Given the description of an element on the screen output the (x, y) to click on. 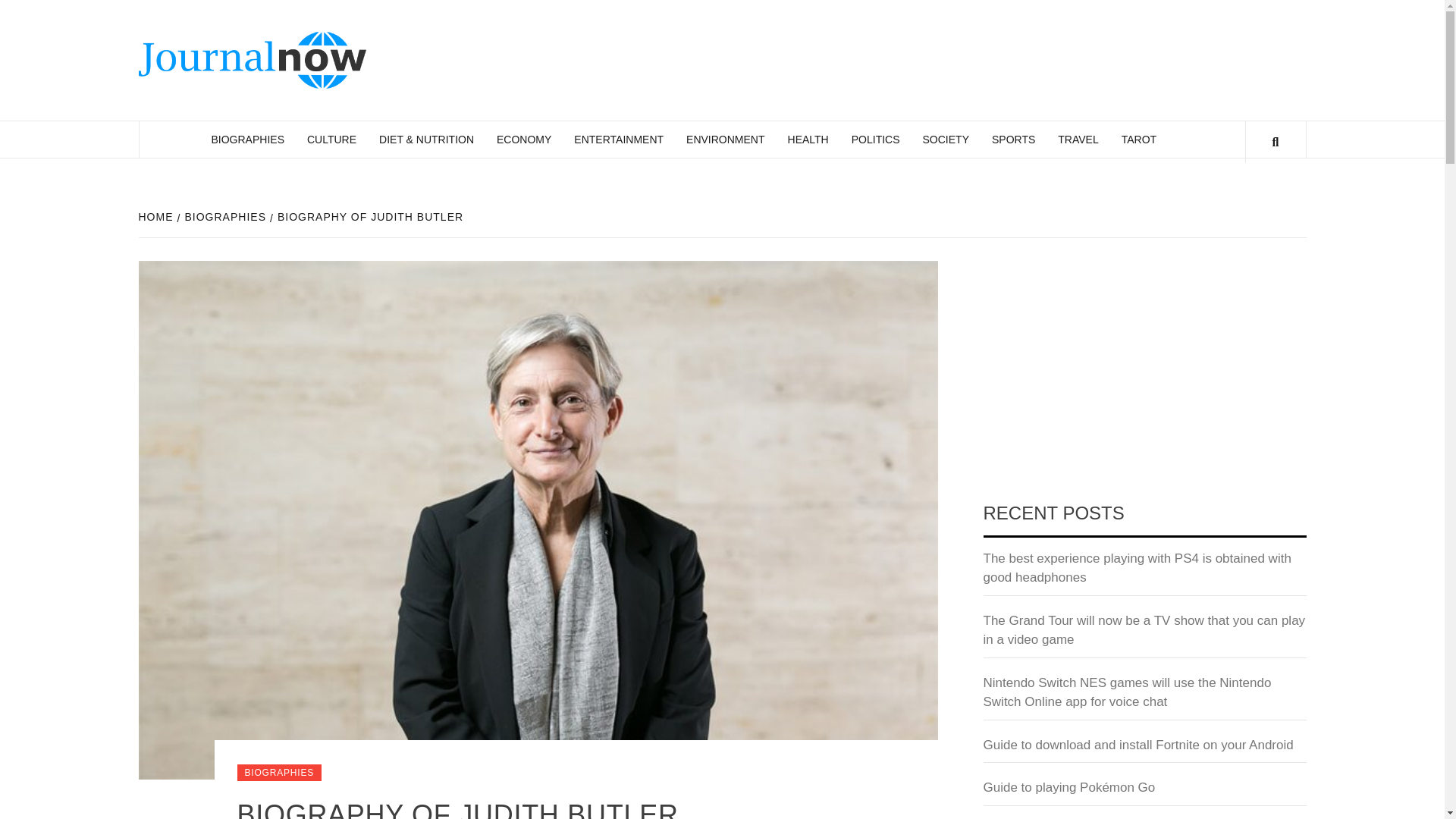
ECONOMY (523, 139)
SPORTS (1012, 139)
CULTURE (331, 139)
BIOGRAPHY OF JUDITH BUTLER (368, 216)
Advertisement (1144, 372)
SOCIETY (945, 139)
POLITICS (875, 139)
BIOGRAPHIES (247, 139)
